Given the description of an element on the screen output the (x, y) to click on. 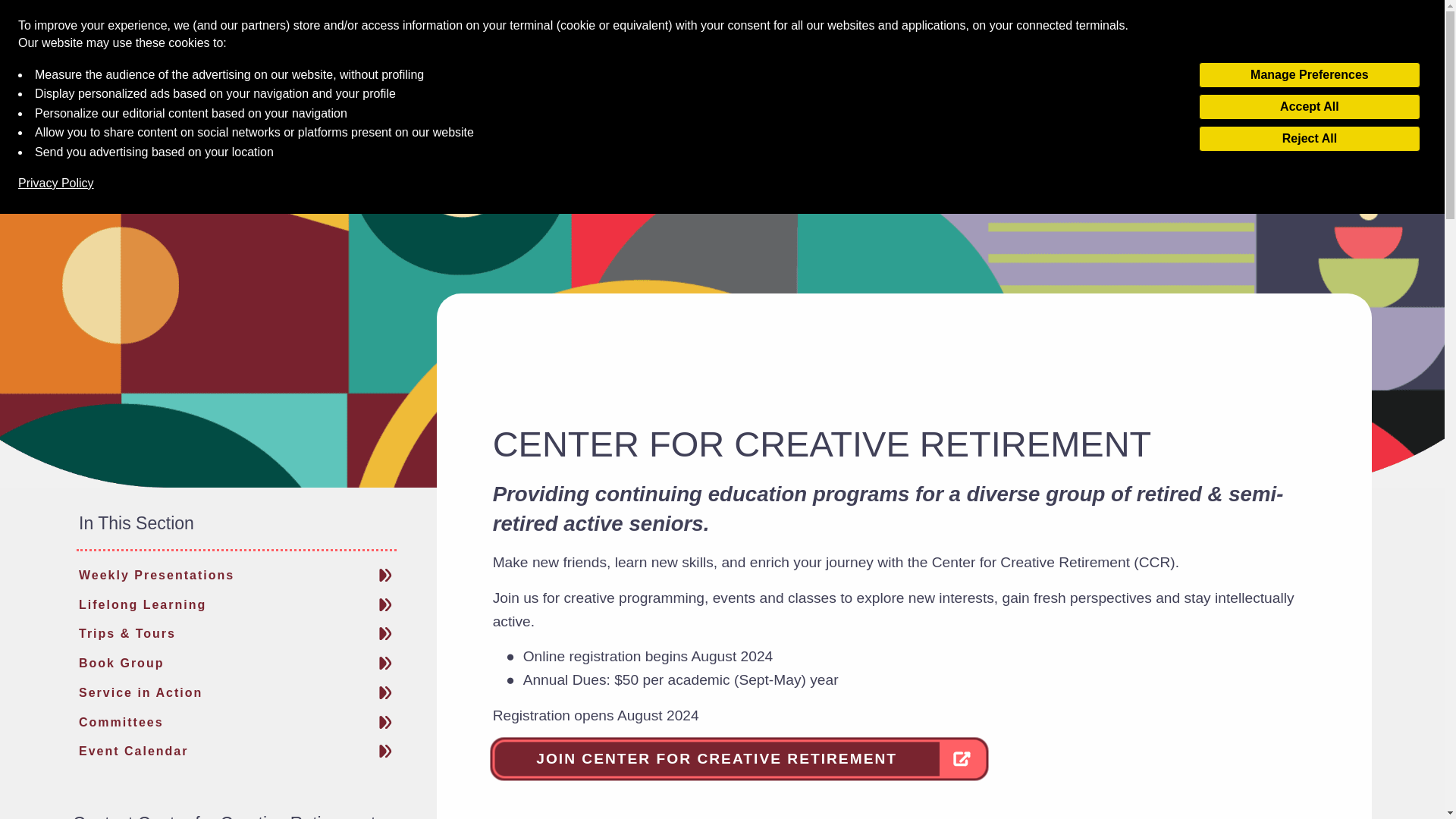
Giving (1124, 44)
ACADEMICS (592, 117)
Accept All (1309, 106)
ABOUT COLLEGE OF CHARLESTON (301, 117)
Privacy Policy (55, 183)
The Hub (943, 44)
Return to College of Charleston homepage (172, 45)
Manage Preferences (1309, 74)
Alumni (1037, 44)
Emergency Info (1242, 44)
Reject All (1309, 138)
MyPortal (842, 44)
college of charleston logo links to home page (172, 45)
